Given the description of an element on the screen output the (x, y) to click on. 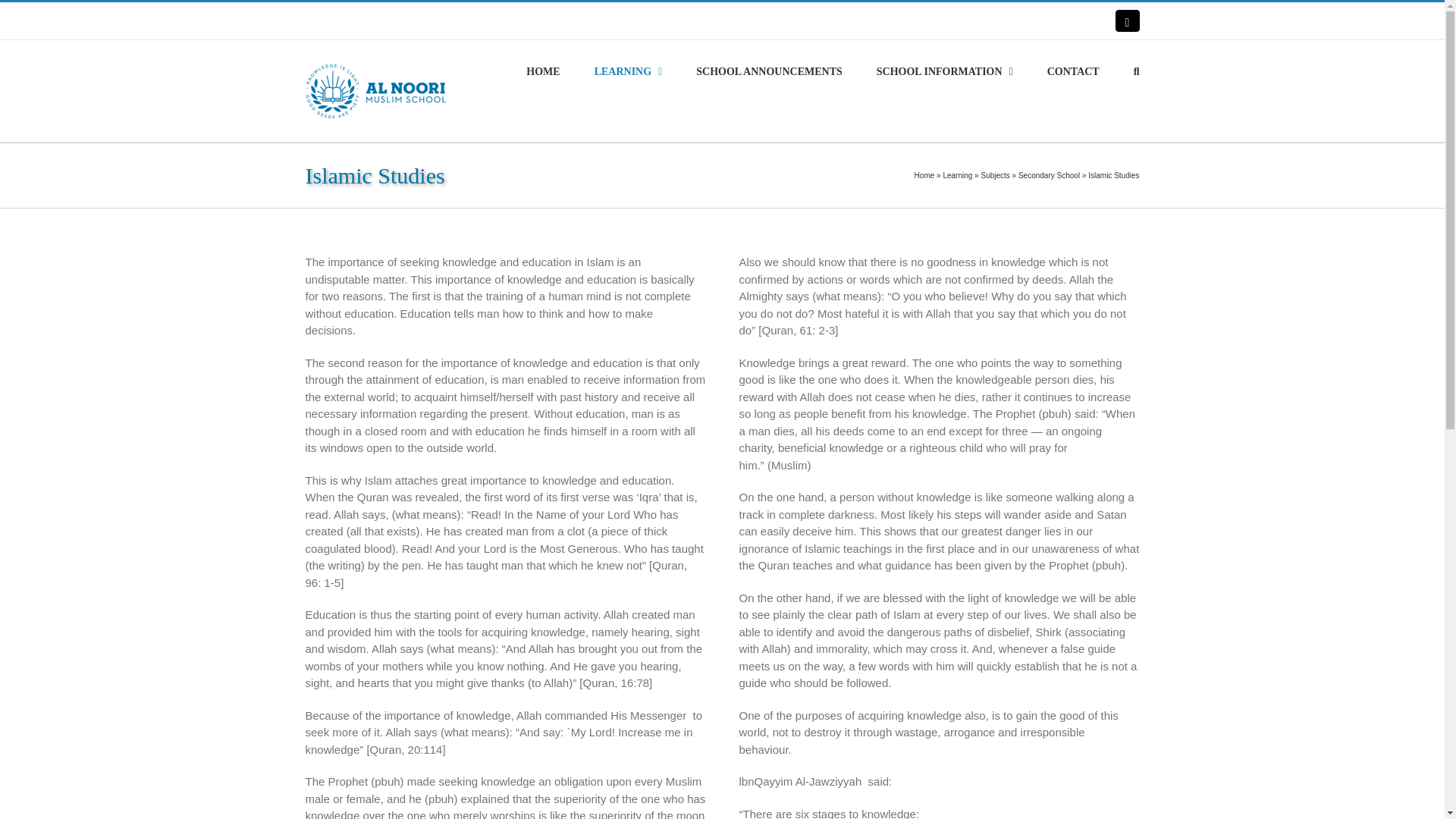
SCHOOL INFORMATION (944, 71)
SCHOOL ANNOUNCEMENTS (769, 71)
LEARNING (628, 71)
Twitter (1126, 20)
